Given the description of an element on the screen output the (x, y) to click on. 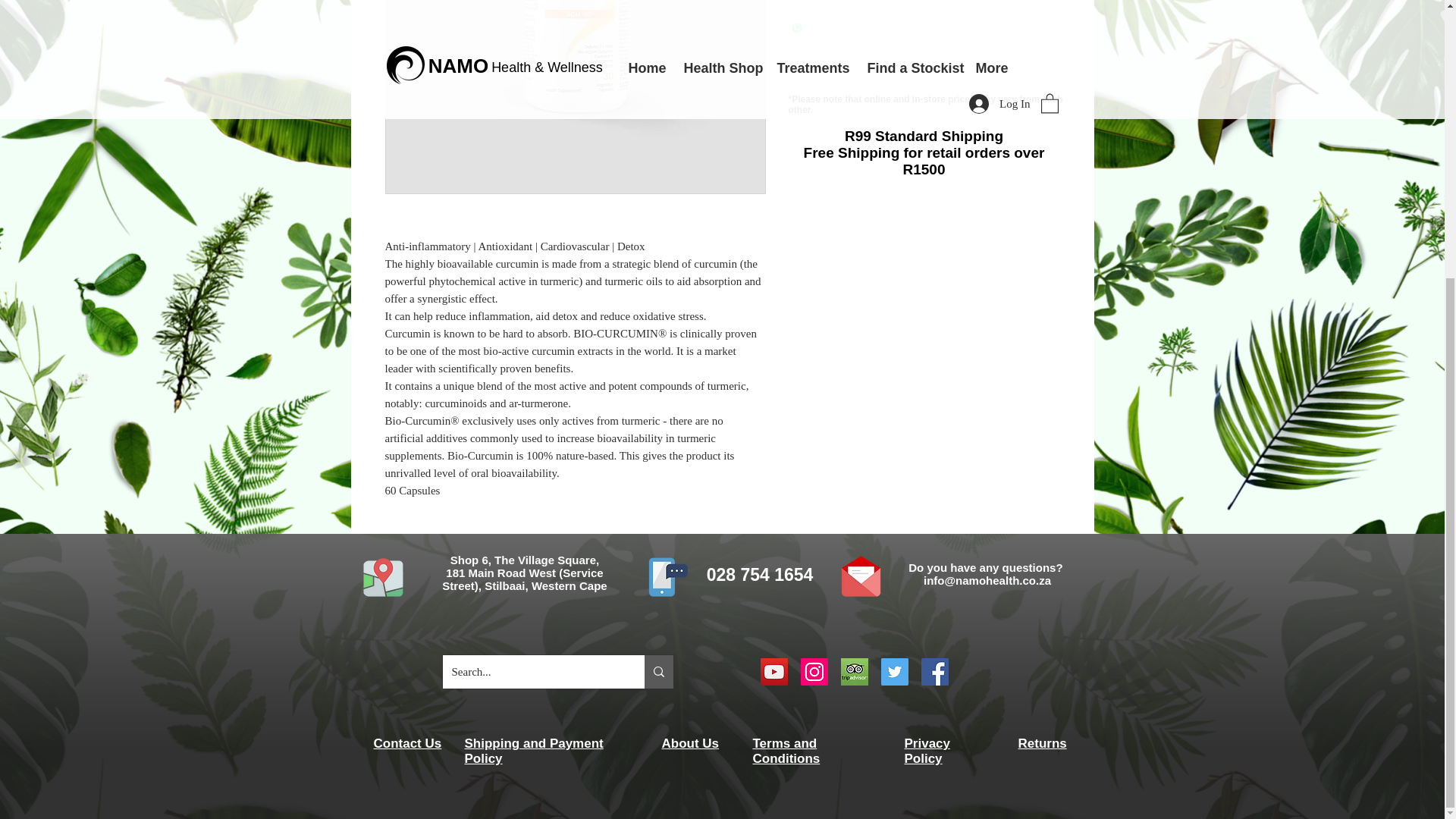
About Us (690, 743)
Terms and Conditions (785, 750)
Contact Us (406, 743)
Shipping and Payment Policy (533, 750)
Privacy Policy (927, 750)
